Given the description of an element on the screen output the (x, y) to click on. 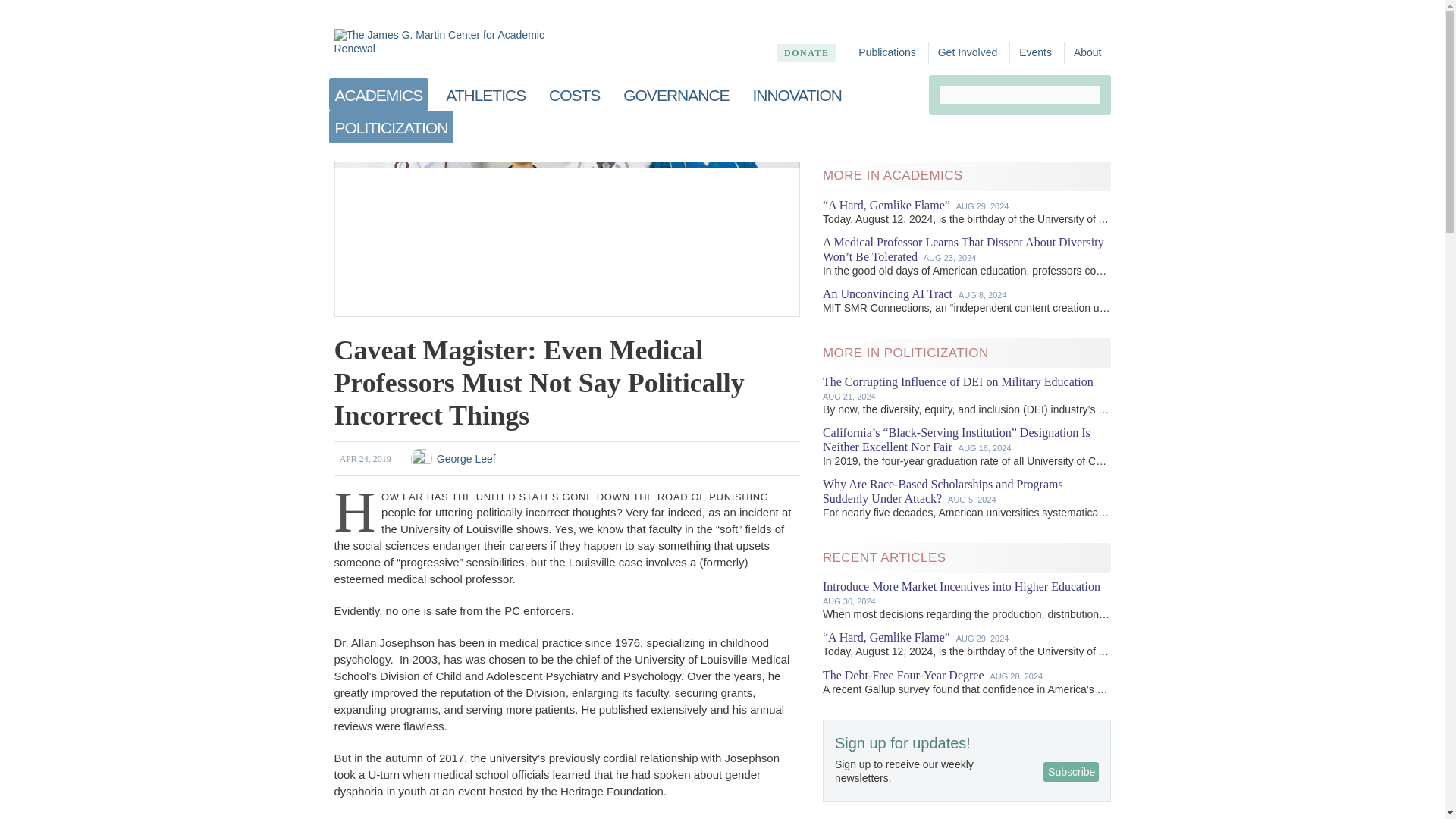
COSTS (574, 93)
ACADEMICS (379, 93)
POLITICIZATION (391, 126)
complaint (742, 817)
George Leef (466, 458)
GOVERNANCE (676, 93)
ATHLETICS (485, 93)
